Given the description of an element on the screen output the (x, y) to click on. 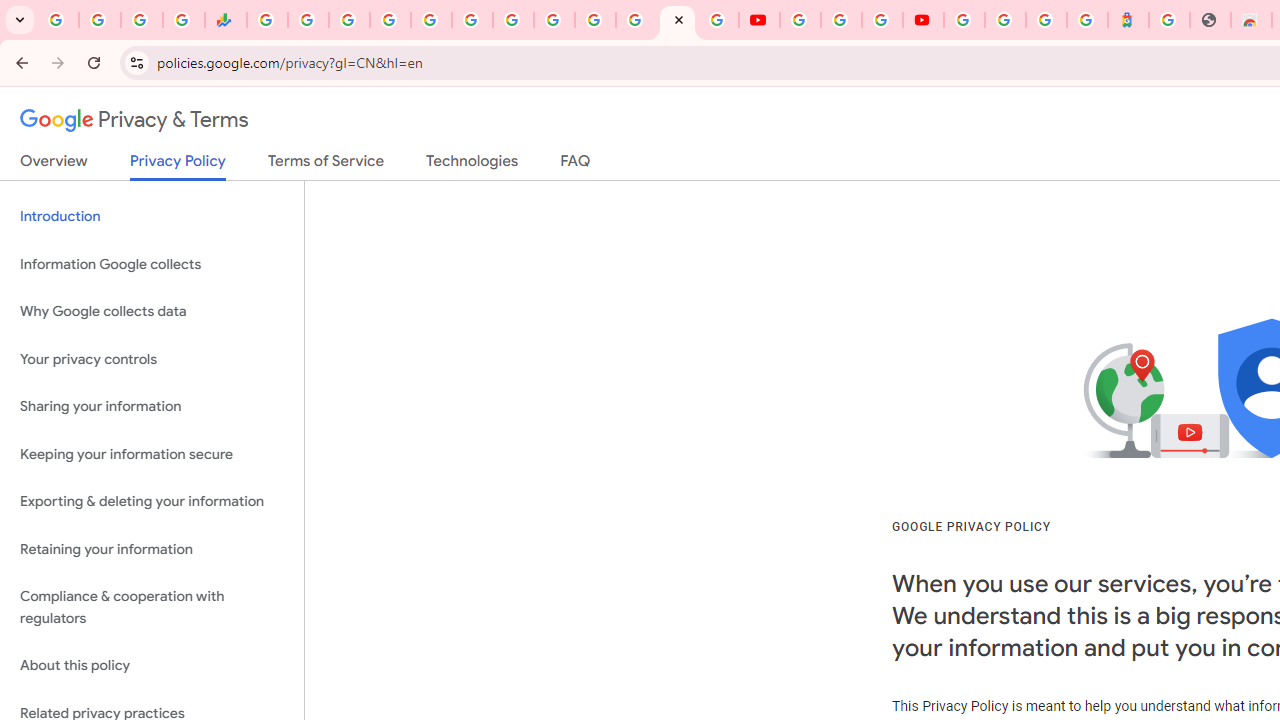
About this policy (152, 666)
Sign in - Google Accounts (594, 20)
Android TV Policies and Guidelines - Transparency Center (512, 20)
Exporting & deleting your information (152, 502)
Content Creator Programs & Opportunities - YouTube Creators (923, 20)
YouTube (799, 20)
YouTube (758, 20)
Keeping your information secure (152, 453)
